Given the description of an element on the screen output the (x, y) to click on. 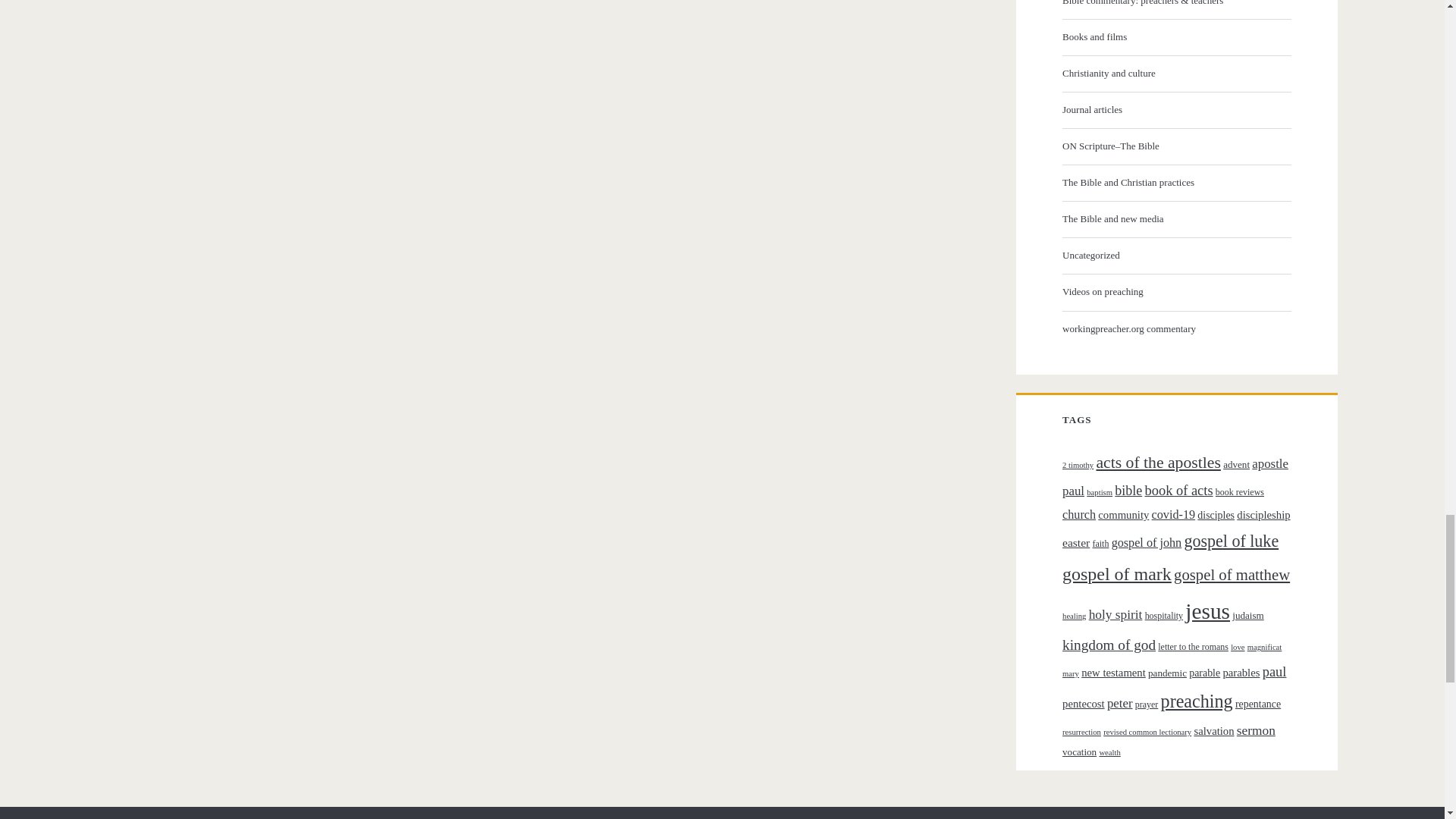
Books and films (1174, 36)
The Bible and Christian practices (1174, 182)
Journal articles (1174, 109)
Christianity and culture (1174, 73)
